Given the description of an element on the screen output the (x, y) to click on. 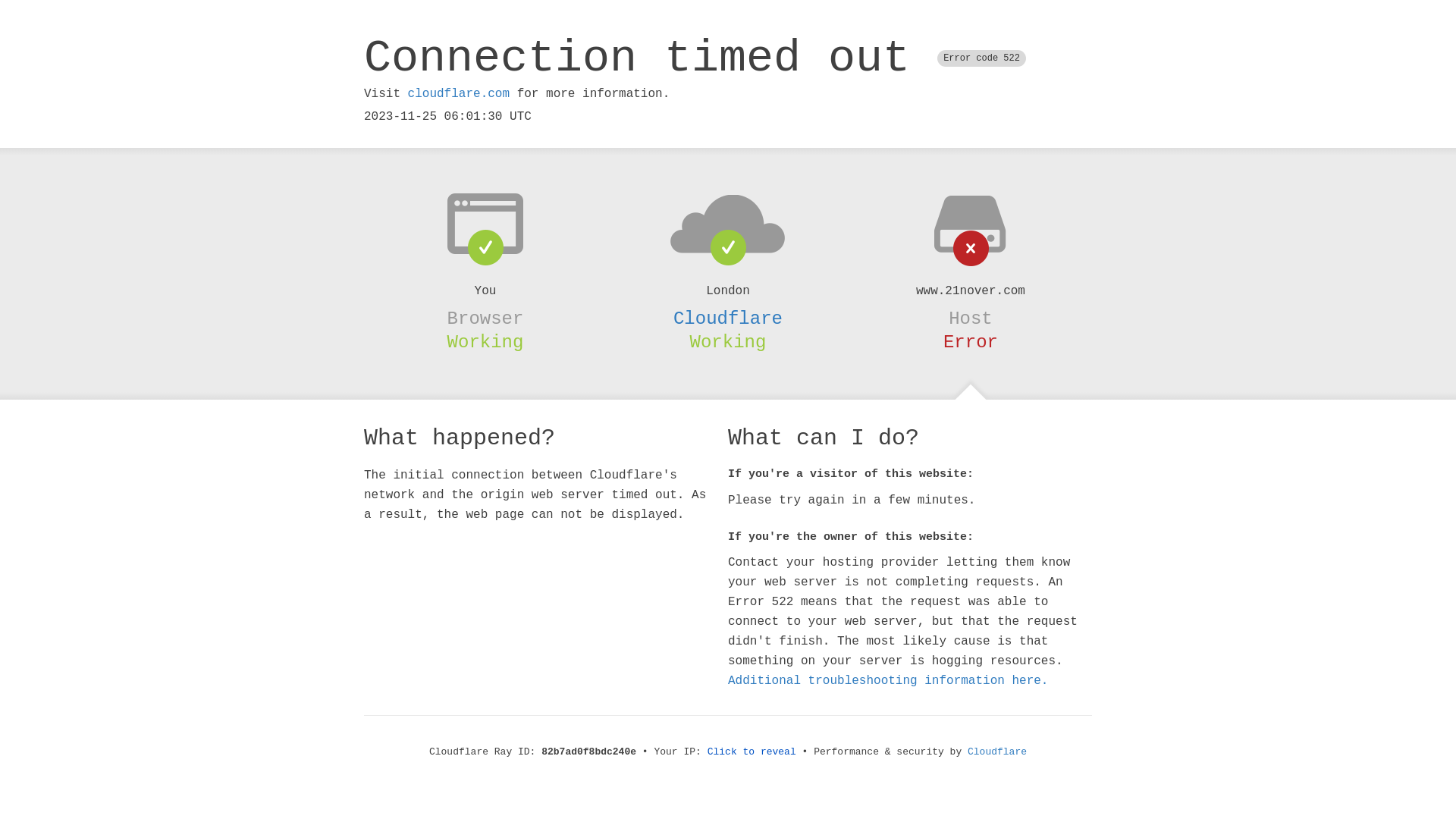
Cloudflare Element type: text (996, 751)
Click to reveal Element type: text (751, 751)
Cloudflare Element type: text (727, 318)
cloudflare.com Element type: text (458, 93)
Additional troubleshooting information here. Element type: text (888, 680)
